Given the description of an element on the screen output the (x, y) to click on. 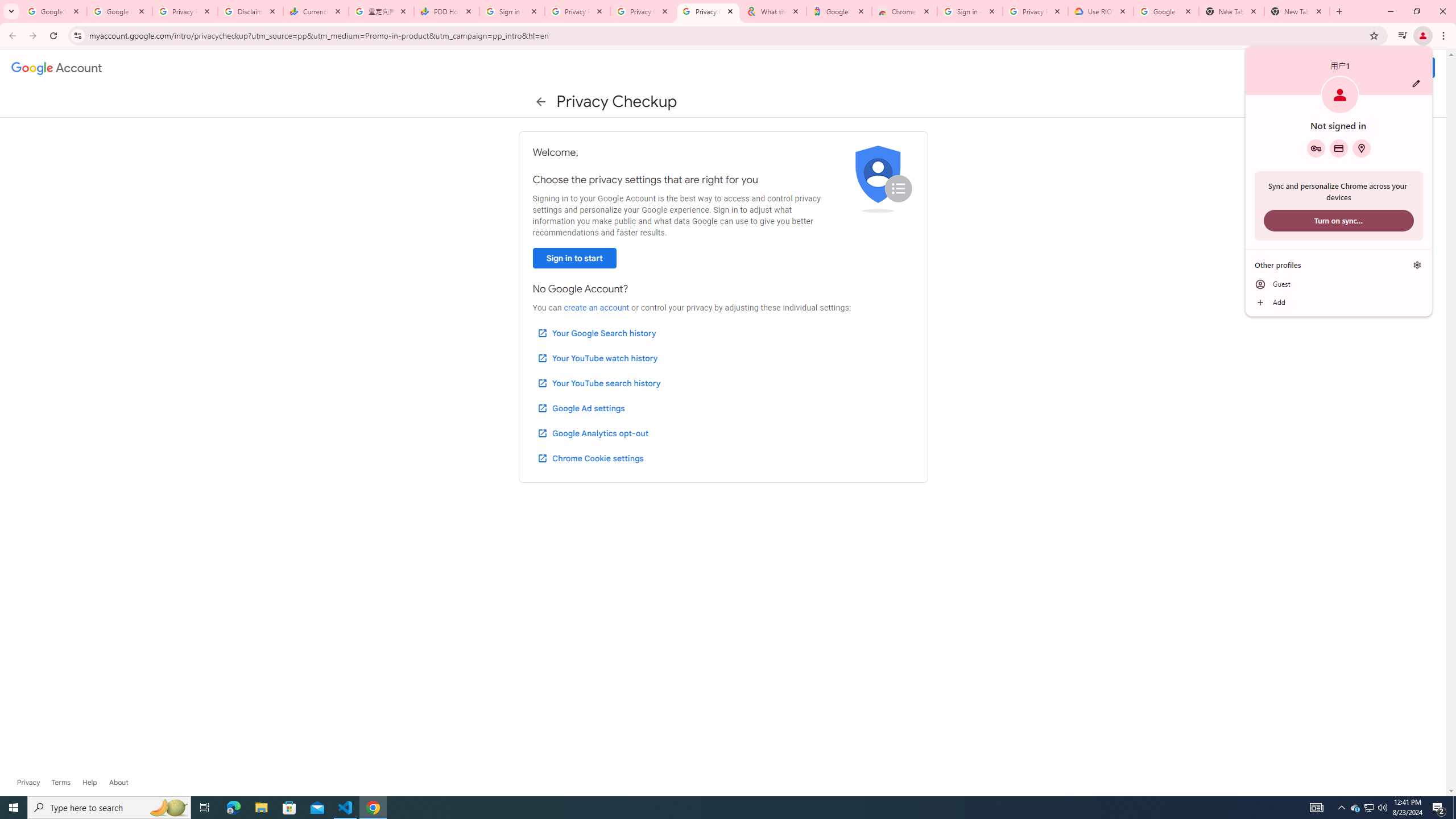
New Tab (1297, 11)
Your YouTube search history (598, 383)
Google Workspace Admin Community (53, 11)
Currencies - Google Finance (315, 11)
User Promoted Notification Area (1368, 807)
Notification Chevron (1341, 807)
Search highlights icon opens search home window (167, 807)
Google Password Manager (1315, 148)
Microsoft Edge (233, 807)
Visual Studio Code - 1 running window (345, 807)
